Given the description of an element on the screen output the (x, y) to click on. 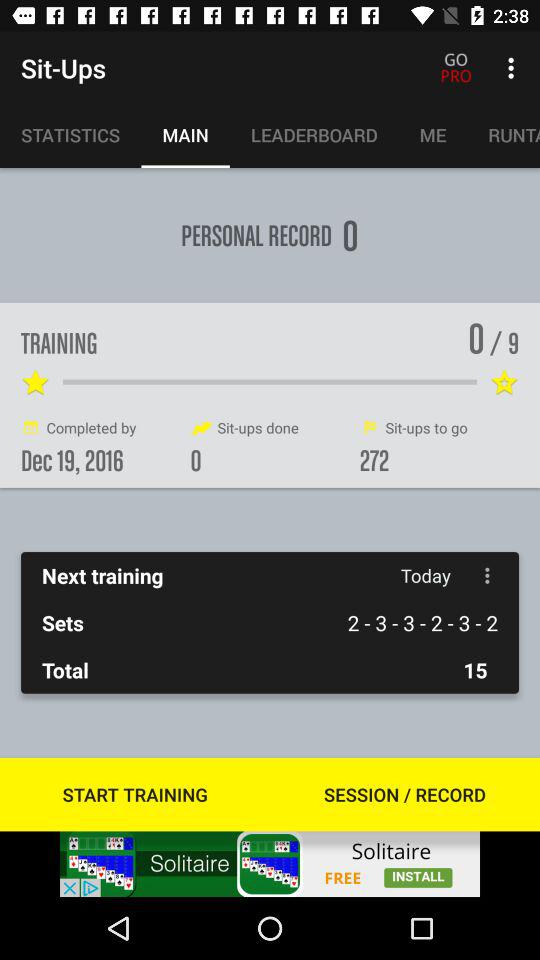
open the app store game (270, 864)
